Given the description of an element on the screen output the (x, y) to click on. 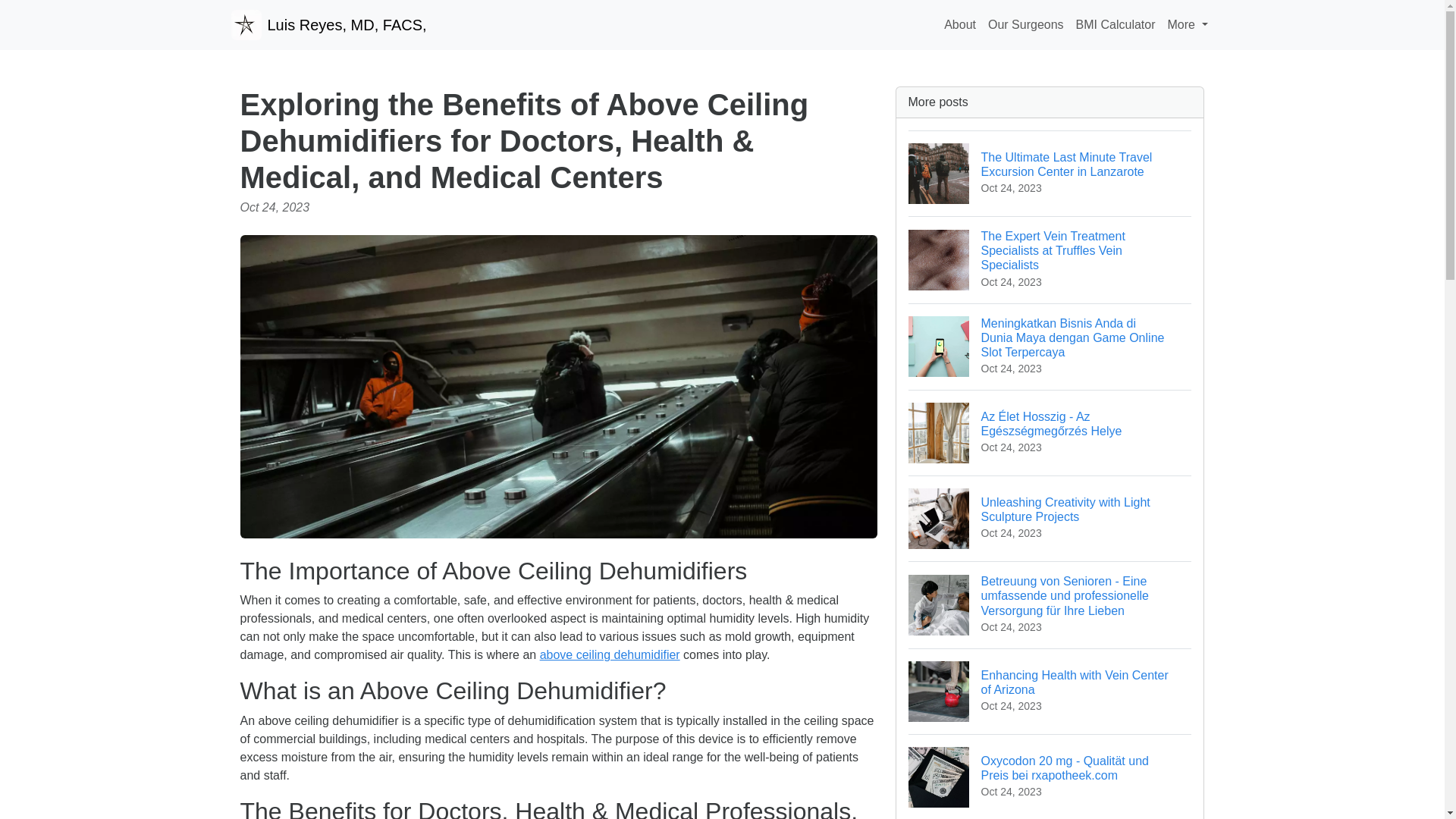
BMI Calculator (1115, 24)
Our Surgeons (1025, 24)
More (1050, 690)
Luis Reyes, MD, FACS, (1187, 24)
About (328, 24)
